Given the description of an element on the screen output the (x, y) to click on. 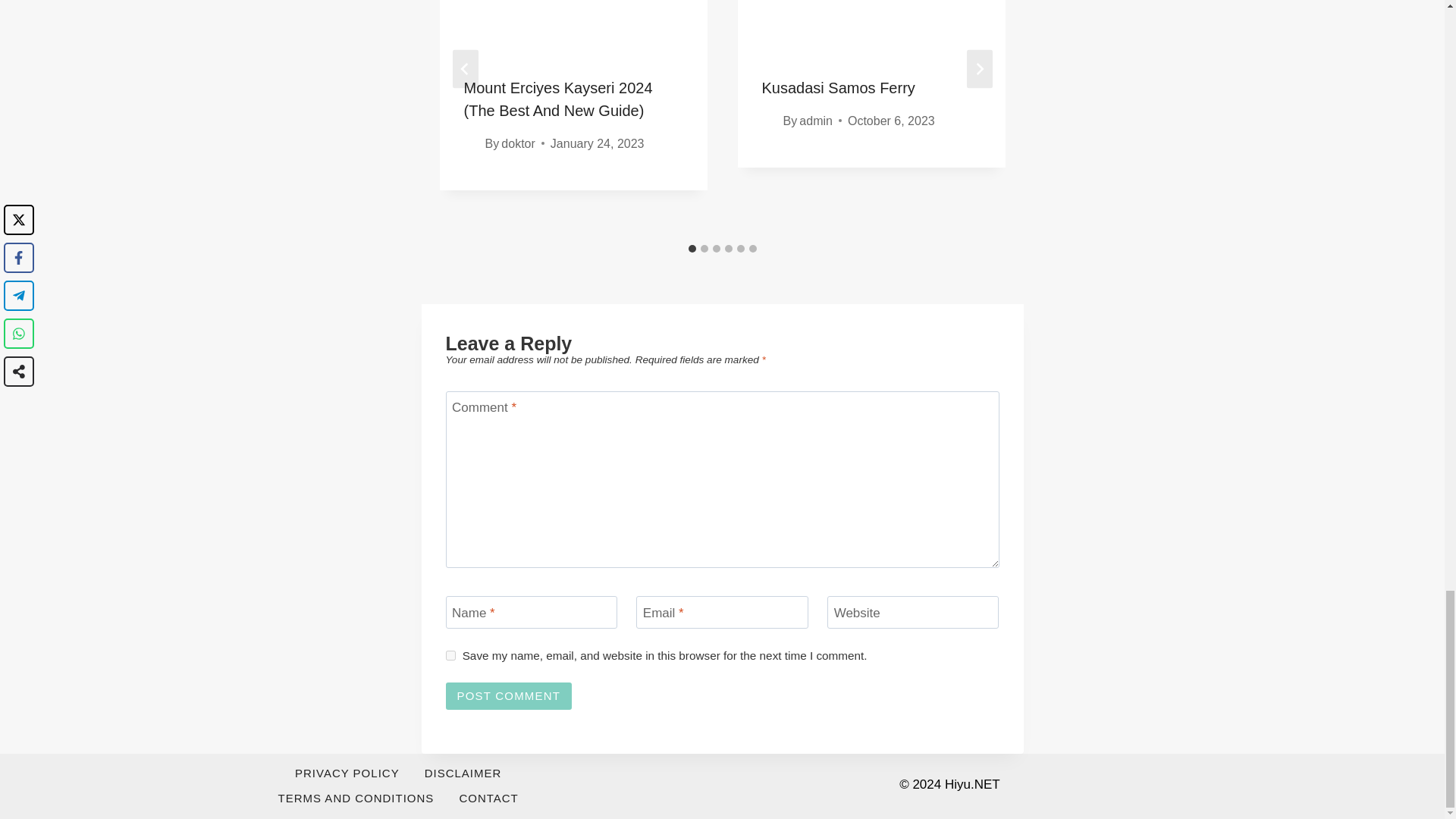
doktor (517, 143)
yes (450, 655)
admin (815, 120)
Post Comment (508, 696)
Kusadasi Samos Ferry (837, 87)
